Given the description of an element on the screen output the (x, y) to click on. 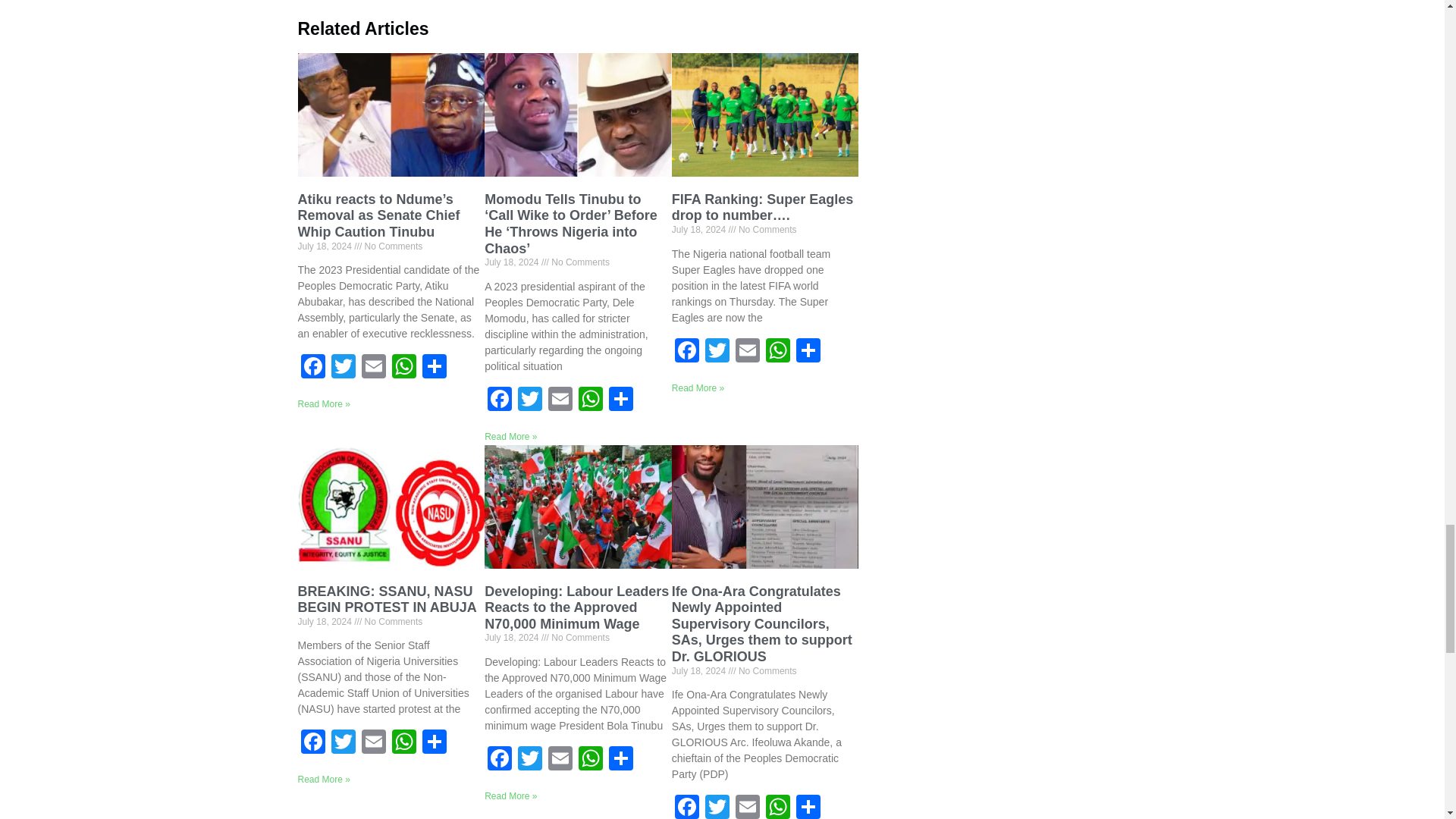
Twitter (342, 367)
Twitter (342, 367)
Facebook (312, 367)
Email (373, 367)
Email (373, 367)
Share (433, 367)
WhatsApp (403, 367)
Facebook (312, 367)
